Given the description of an element on the screen output the (x, y) to click on. 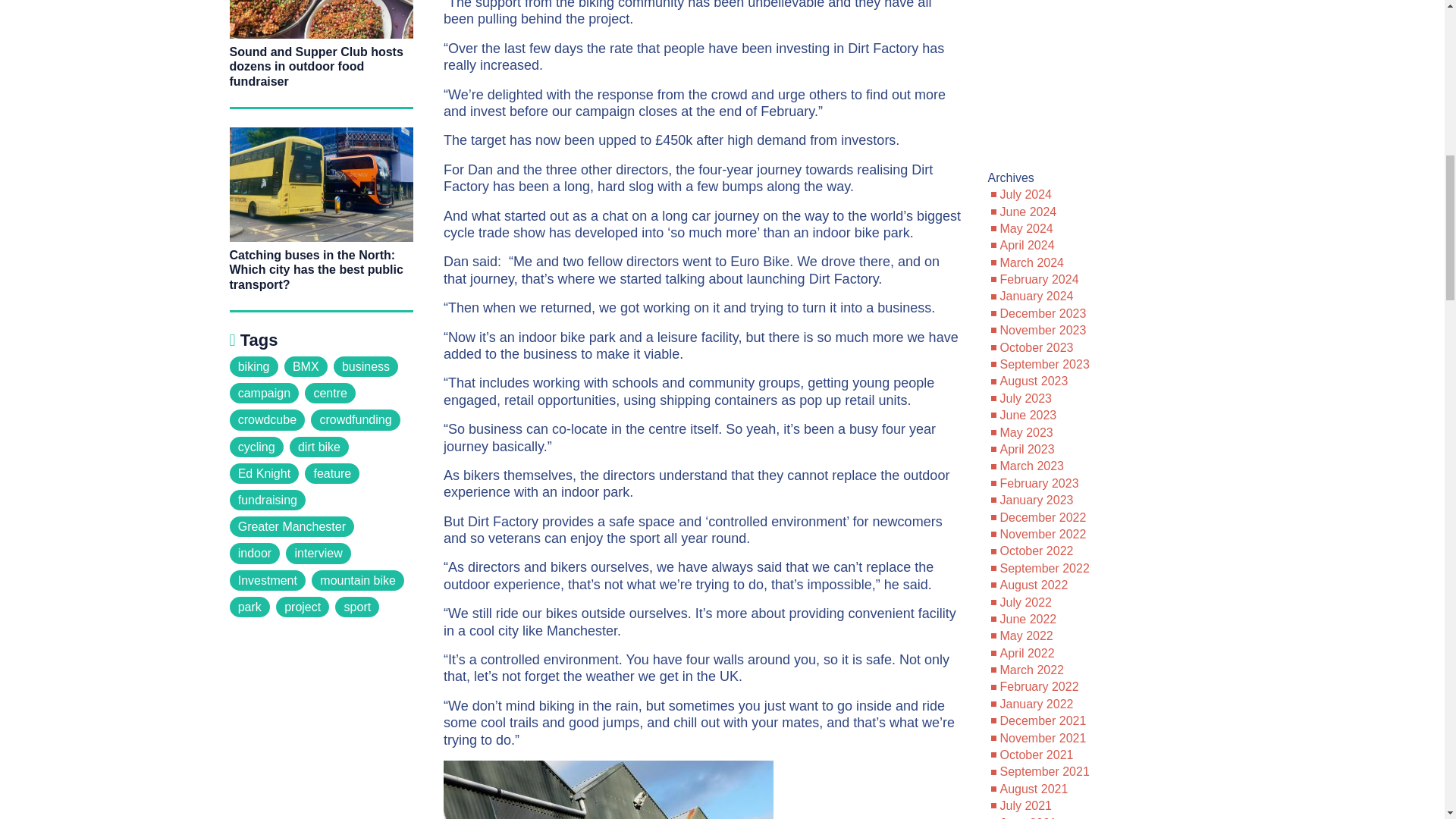
crowdcube (266, 419)
Advertisement (1100, 82)
crowdfunding (355, 419)
business (365, 366)
biking (253, 366)
BMX (305, 366)
centre (329, 393)
campaign (263, 393)
cycling (255, 446)
